Given the description of an element on the screen output the (x, y) to click on. 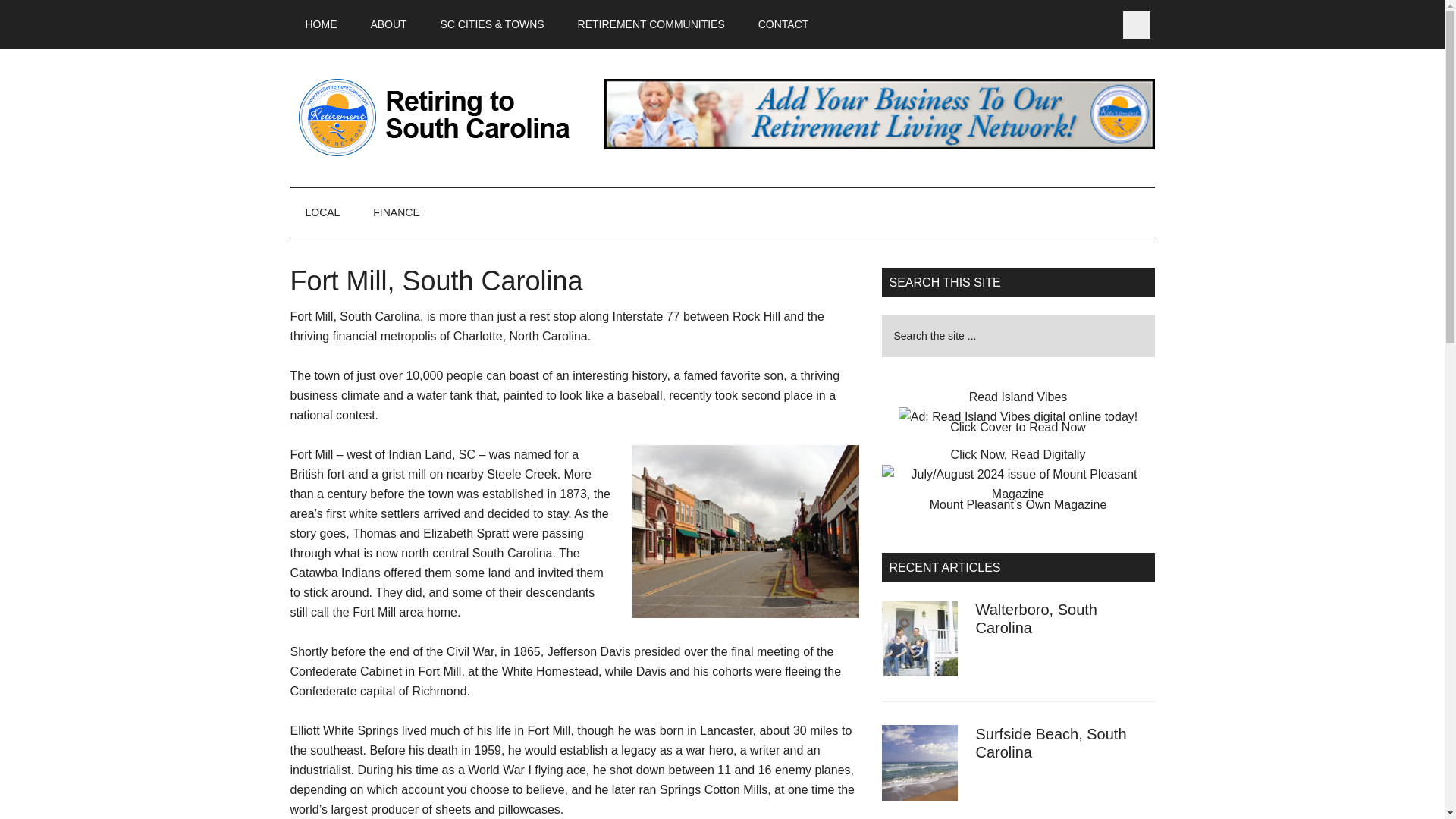
Walterboro, South Carolina (1035, 618)
ABOUT (388, 24)
Retiring to South Carolina (433, 117)
Surfside Beach, South Carolina (1050, 742)
CONTACT (783, 24)
FINANCE (395, 212)
LOCAL (322, 212)
RETIREMENT COMMUNITIES (650, 24)
Skip to main content (1017, 412)
